Given the description of an element on the screen output the (x, y) to click on. 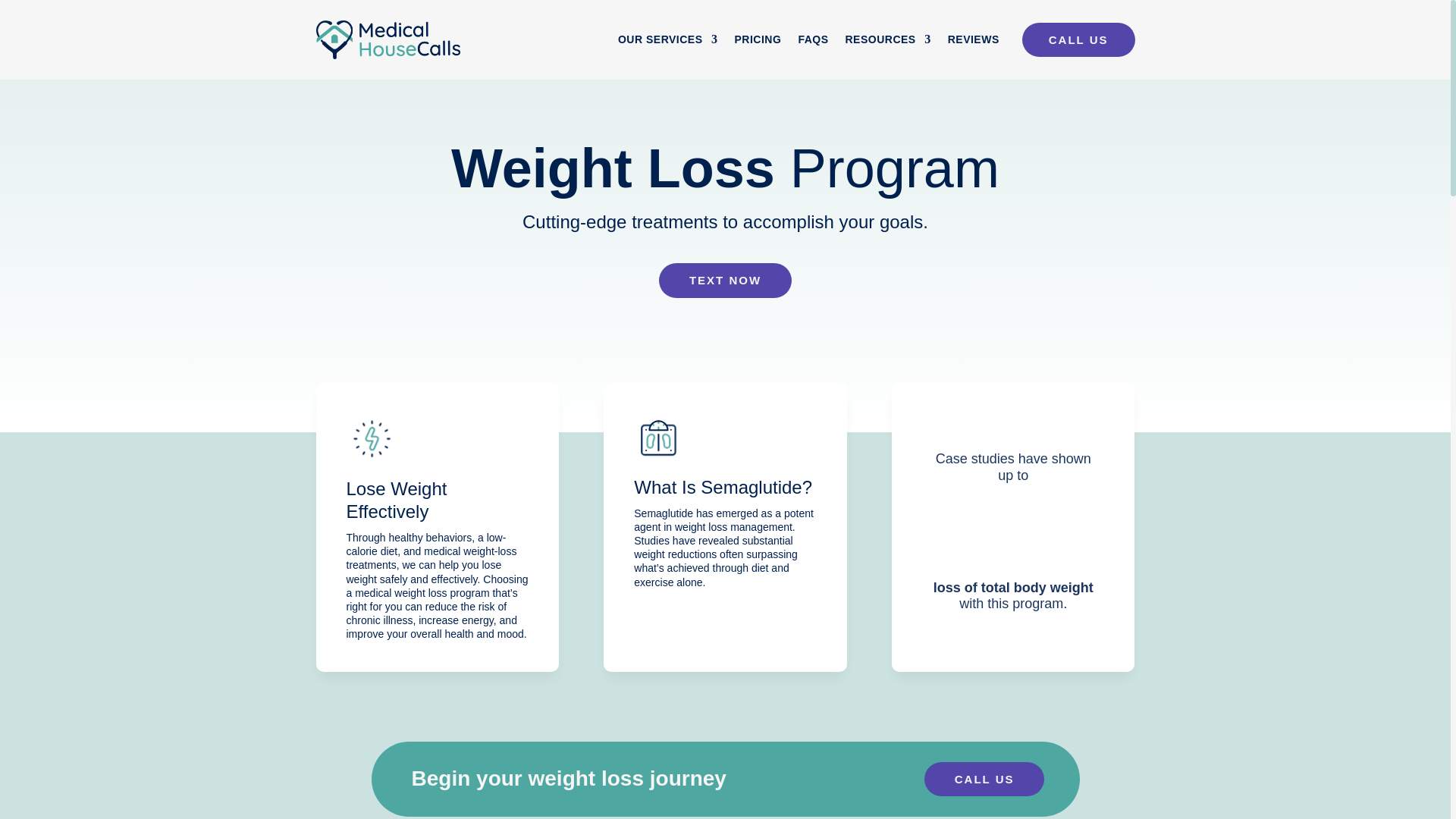
FAQS (812, 42)
OUR SERVICES (667, 42)
PRICING (758, 42)
RESOURCES (887, 42)
REVIEWS (972, 42)
CALL US (1078, 39)
